Given the description of an element on the screen output the (x, y) to click on. 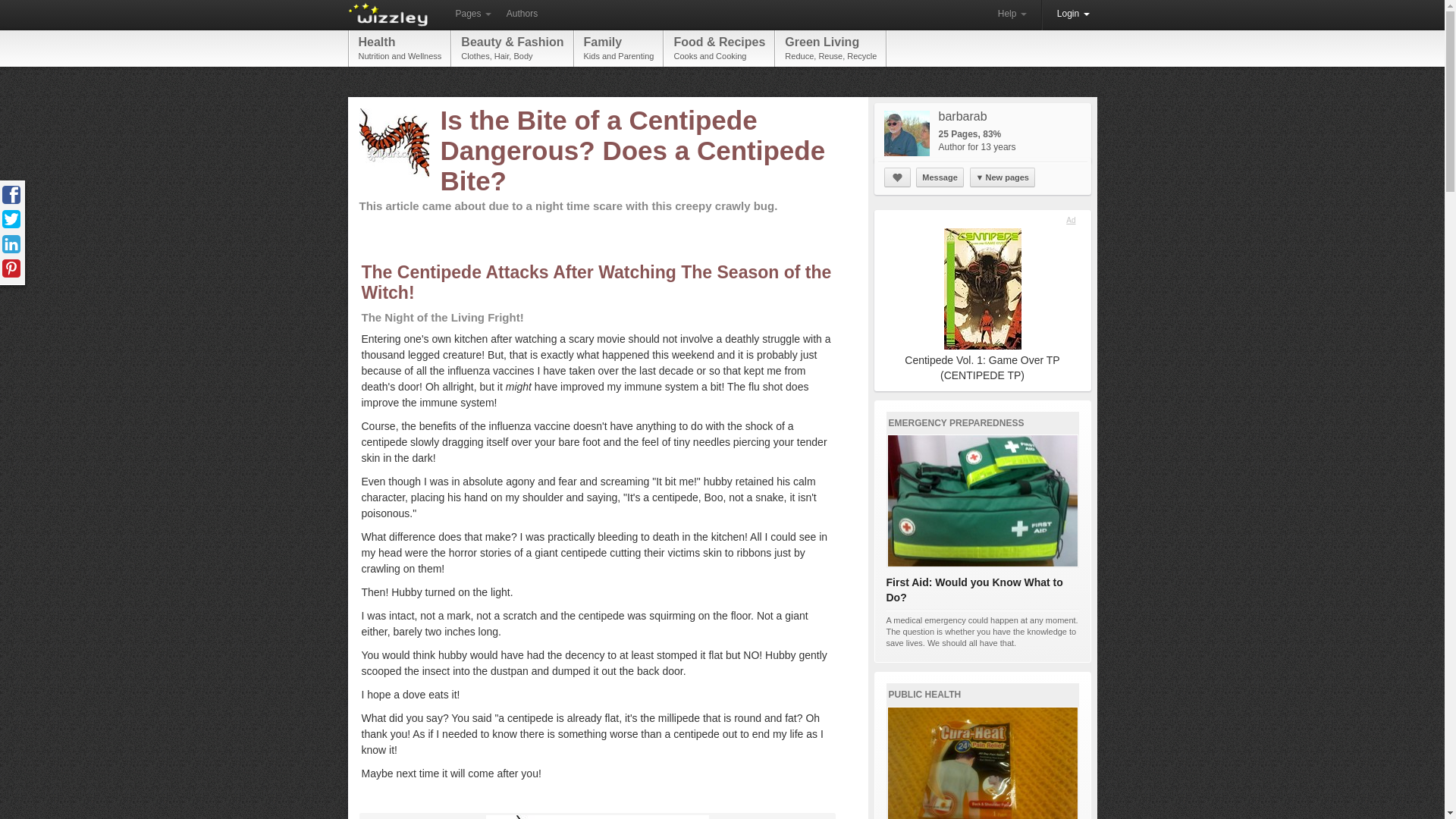
Follow (897, 177)
Authors (521, 14)
Login (830, 48)
Help (400, 48)
Pages (618, 48)
CentipedeClipart (1073, 14)
